Given the description of an element on the screen output the (x, y) to click on. 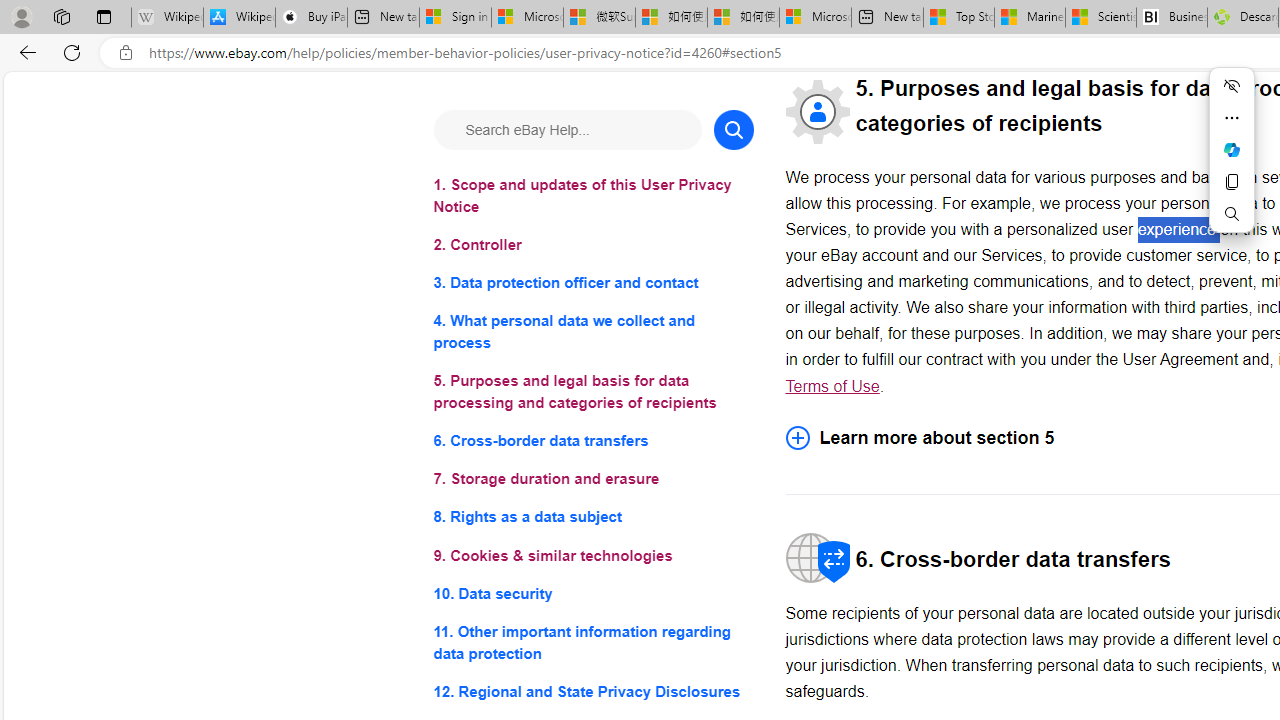
11. Other important information regarding data protection (592, 642)
1. Scope and updates of this User Privacy Notice (592, 196)
7. Storage duration and erasure (592, 479)
8. Rights as a data subject (592, 517)
2. Controller (592, 245)
10. Data security (592, 592)
4. What personal data we collect and process (592, 332)
12. Regional and State Privacy Disclosures (592, 690)
3. Data protection officer and contact (592, 283)
Top Stories - MSN (959, 17)
8. Rights as a data subject (592, 517)
